Given the description of an element on the screen output the (x, y) to click on. 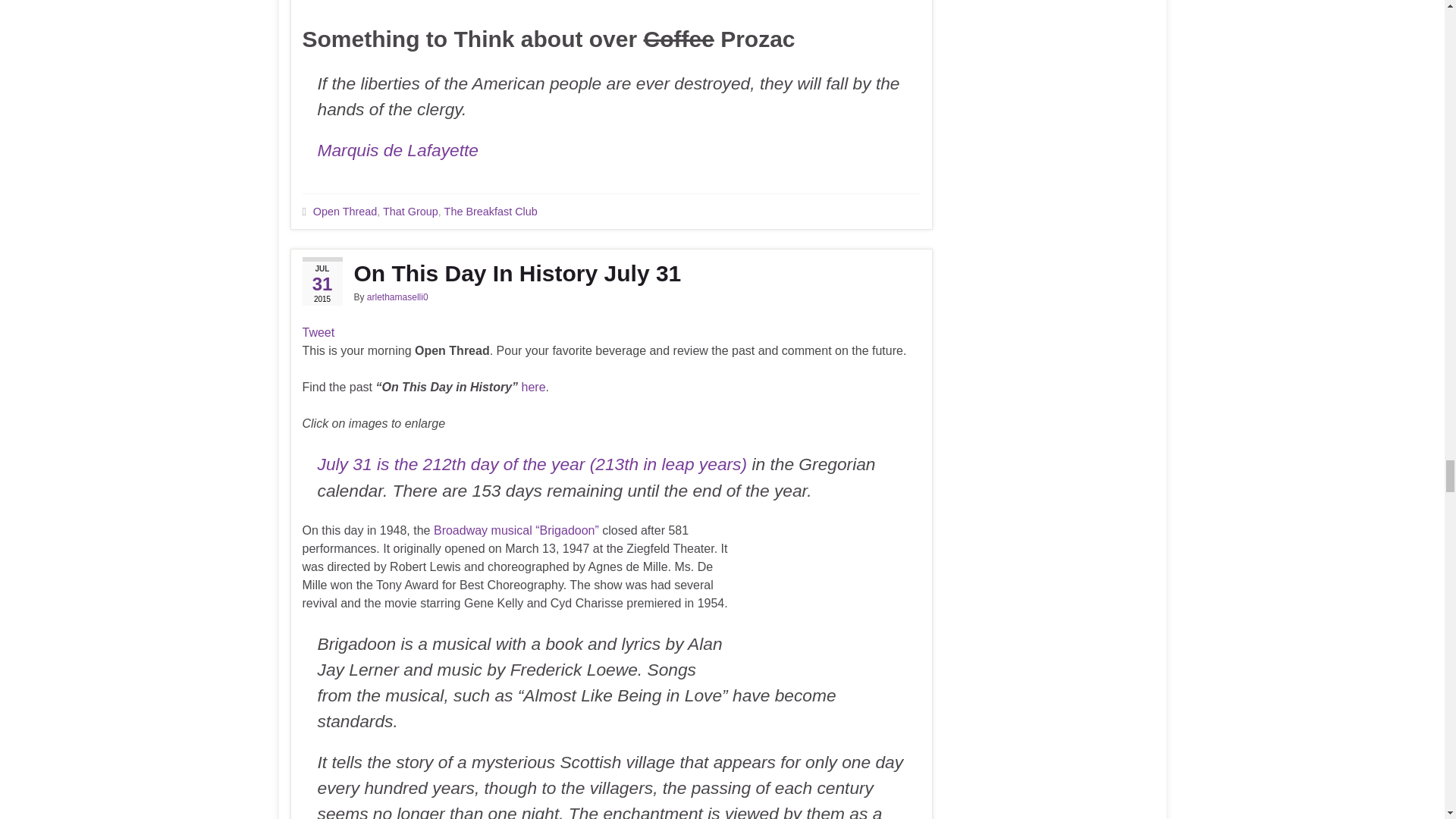
Permalink to On This Day In History July 31 (610, 273)
